Given the description of an element on the screen output the (x, y) to click on. 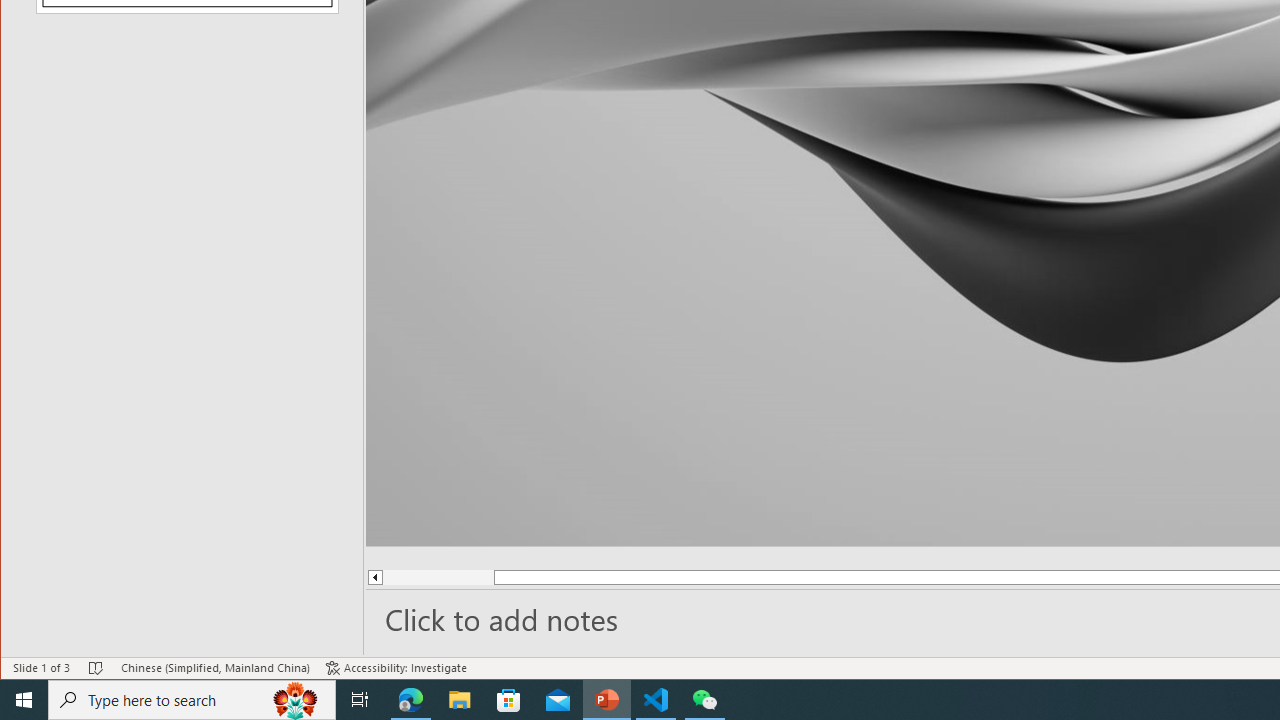
WeChat - 1 running window (704, 699)
